Given the description of an element on the screen output the (x, y) to click on. 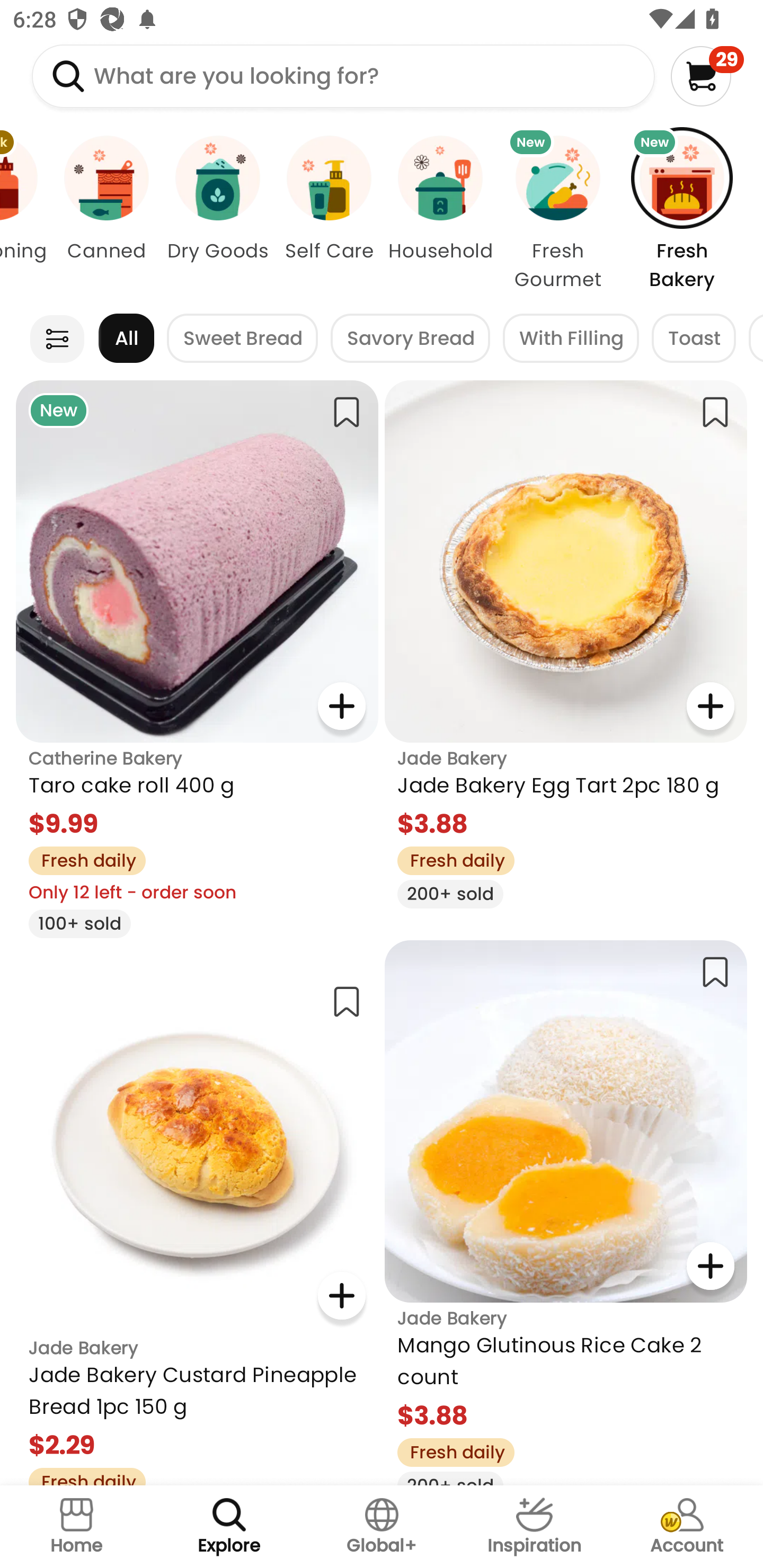
What are you looking for? (343, 75)
29 (706, 75)
Canned (106, 214)
Dry Goods (217, 214)
Self Care (328, 214)
Household (439, 214)
New Fresh Gourmet (557, 214)
New Fresh Bakery (691, 214)
All (126, 337)
Sweet Bread (242, 337)
Savory Bread (409, 337)
With Filling (570, 337)
Toast (693, 337)
Home (76, 1526)
Explore (228, 1526)
Global+ (381, 1526)
Inspiration (533, 1526)
Account (686, 1526)
